Given the description of an element on the screen output the (x, y) to click on. 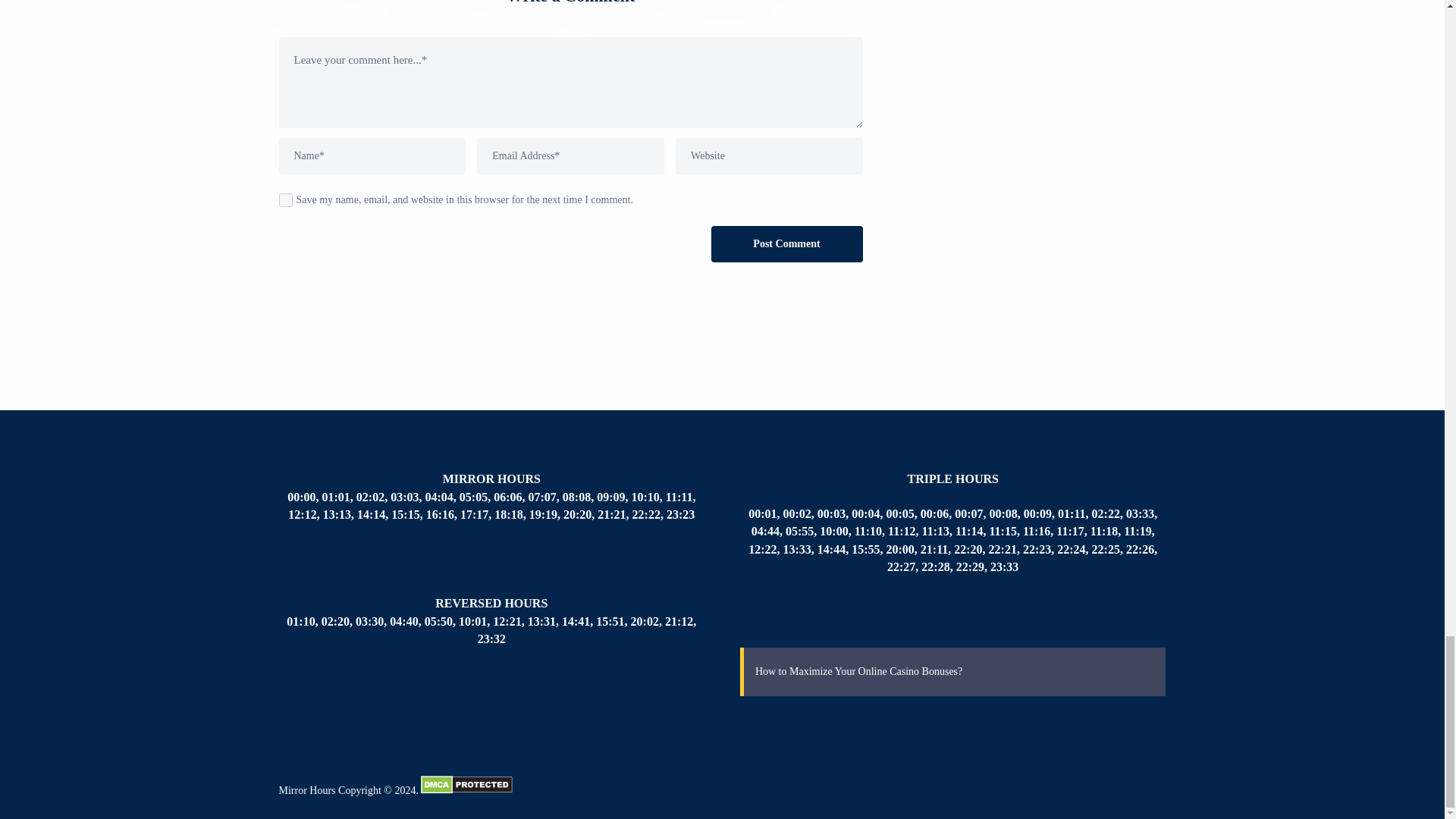
Post Comment (787, 244)
yes (285, 200)
Post Comment (787, 244)
